Given the description of an element on the screen output the (x, y) to click on. 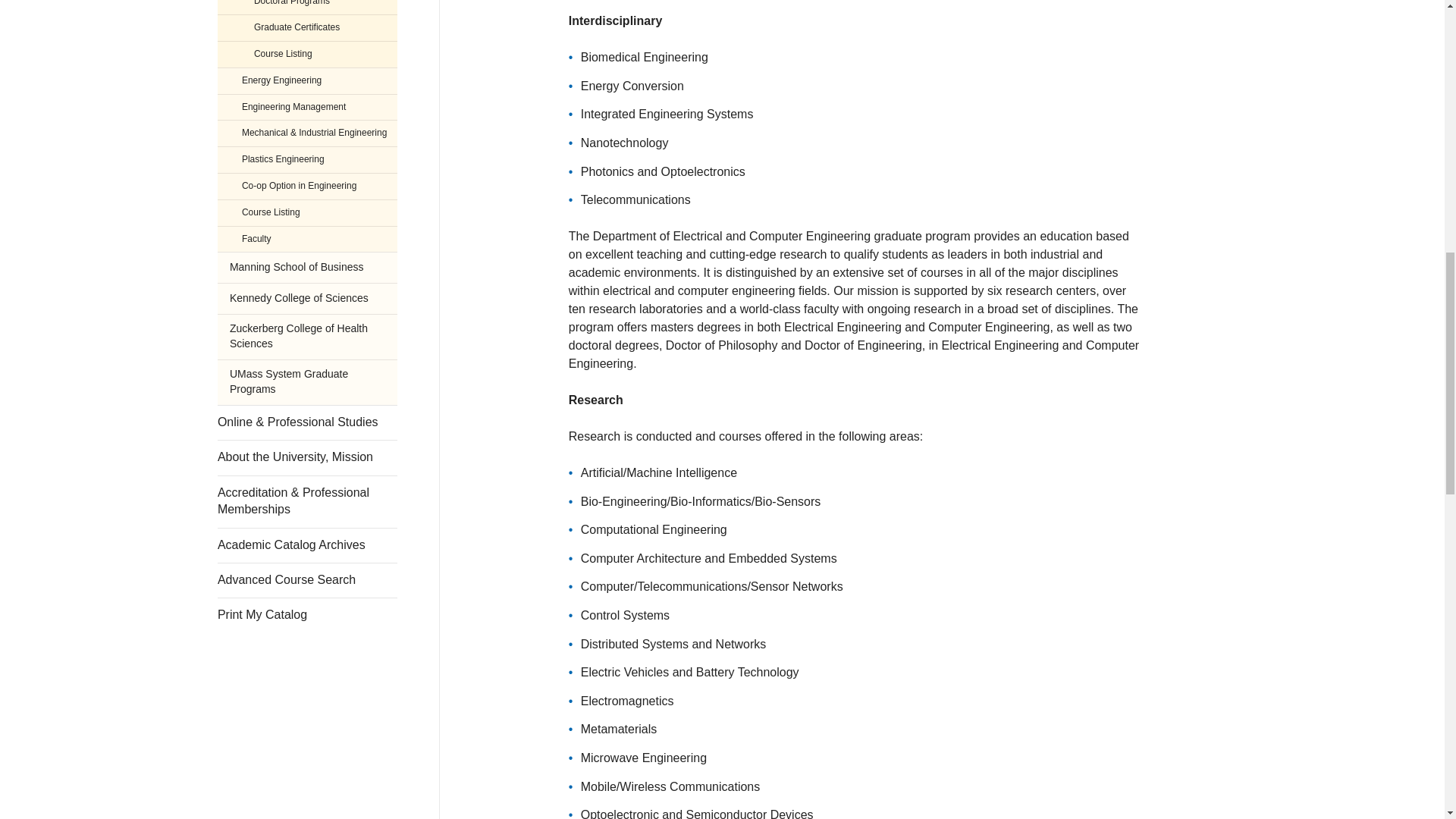
Course Listing (306, 212)
Co-op Option in Engineering (306, 185)
Graduate Certificates (306, 27)
Course Listing (306, 53)
Doctoral Programs (306, 7)
Plastics Engineering (306, 159)
Energy Engineering (306, 80)
Engineering Management (306, 107)
